Given the description of an element on the screen output the (x, y) to click on. 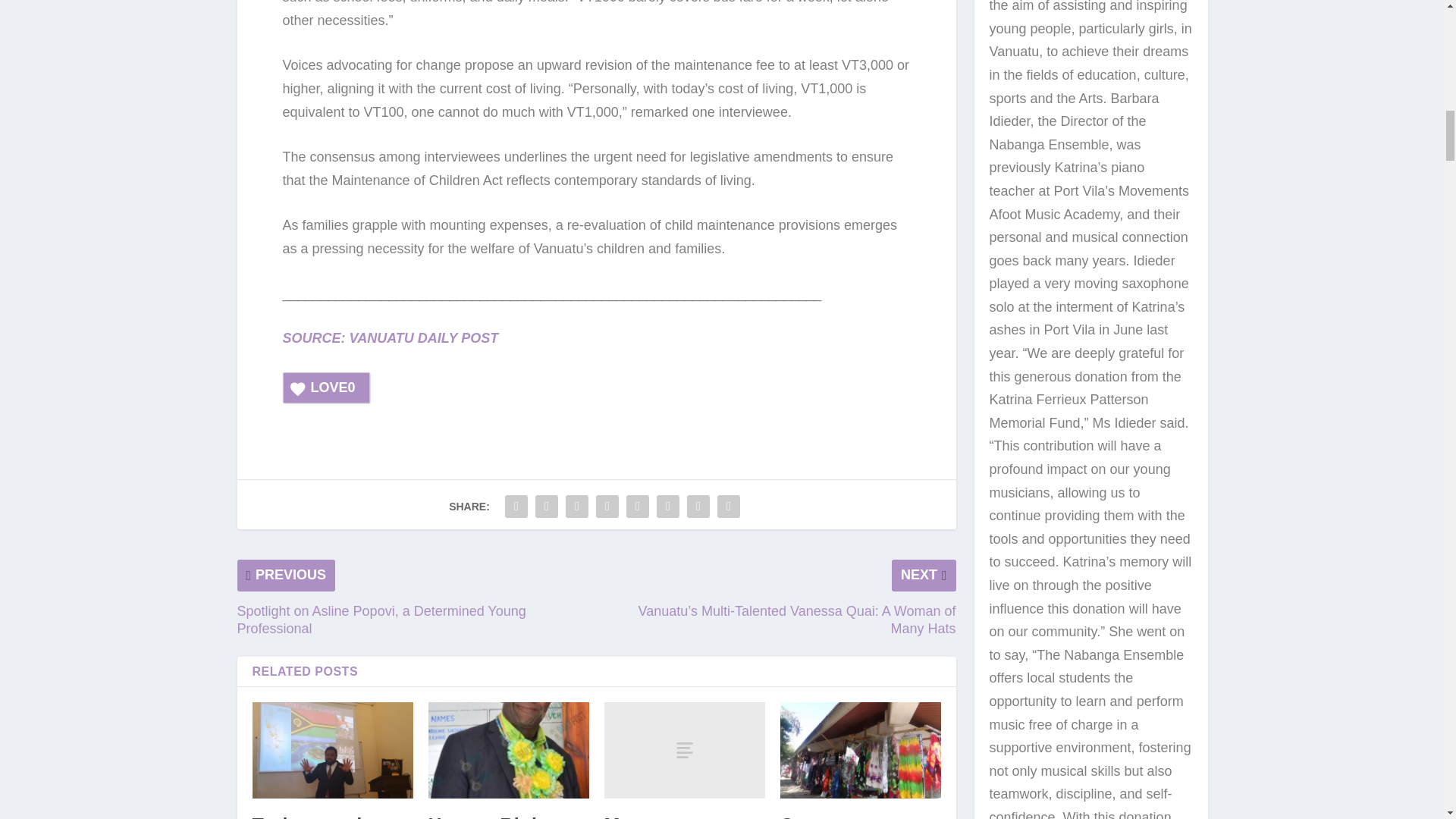
Turkey students hear about domestic violence in Vanuatu (331, 749)
Turkey students hear about domestic violence in Vanuatu (327, 816)
Man sent to prison for rape (684, 749)
LOVE0 (325, 387)
